Given the description of an element on the screen output the (x, y) to click on. 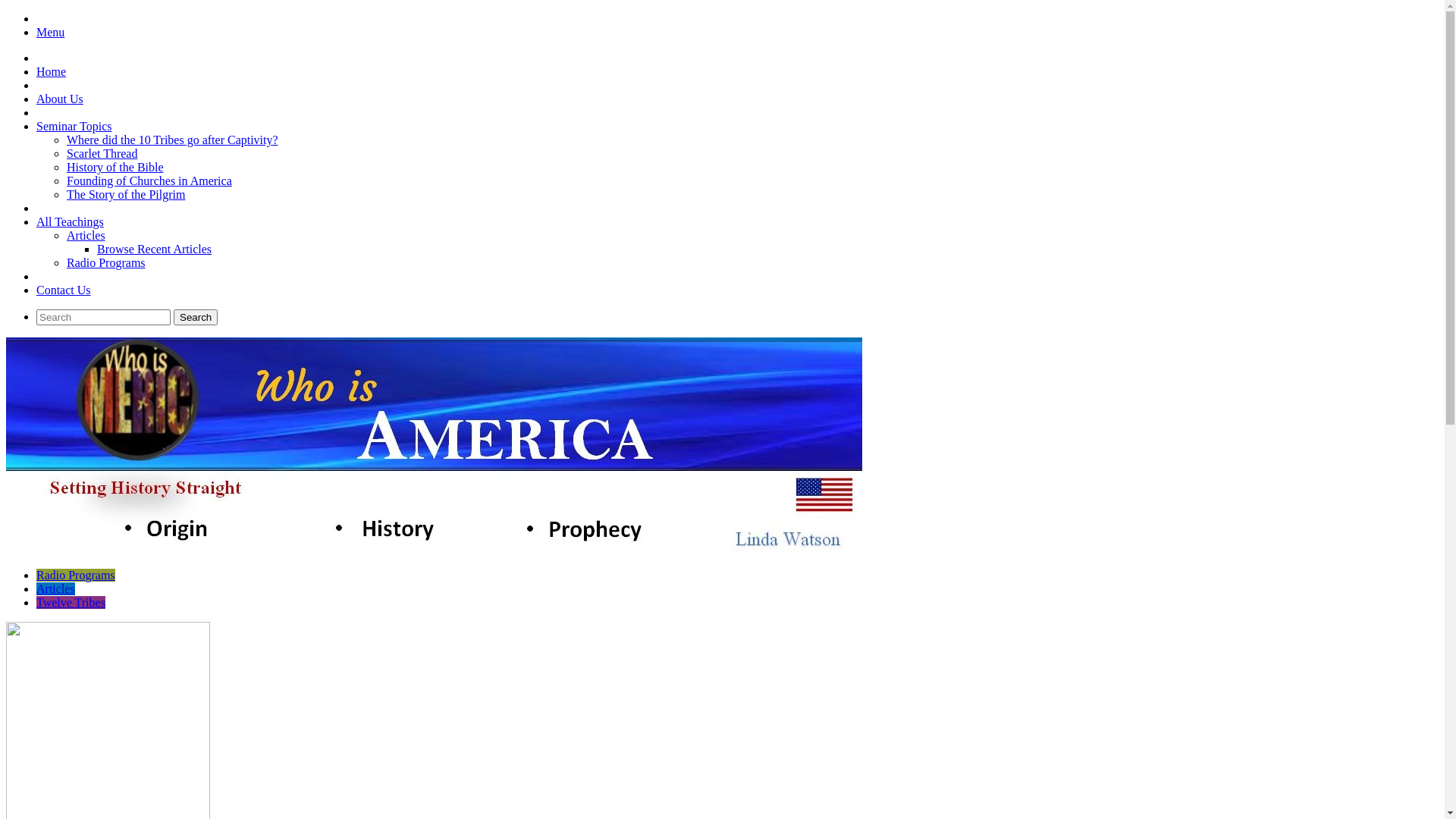
Scarlet Thread Element type: text (101, 153)
All Teachings Element type: text (69, 221)
Where did the 10 Tribes go after Captivity? Element type: text (172, 139)
Seminar Topics Element type: text (73, 125)
About Us Element type: text (59, 98)
Articles Element type: text (55, 588)
Founding of Churches in America Element type: text (149, 180)
Twelve Tribes Element type: text (70, 602)
History of the Bible Element type: text (114, 166)
Search Element type: text (195, 317)
Menu Element type: text (50, 31)
Radio Programs Element type: text (105, 262)
Contact Us Element type: text (63, 289)
Radio Programs Element type: text (75, 574)
Home Element type: text (50, 71)
Articles Element type: text (85, 235)
Browse Recent Articles Element type: text (154, 248)
The Story of the Pilgrim Element type: text (125, 194)
